Given the description of an element on the screen output the (x, y) to click on. 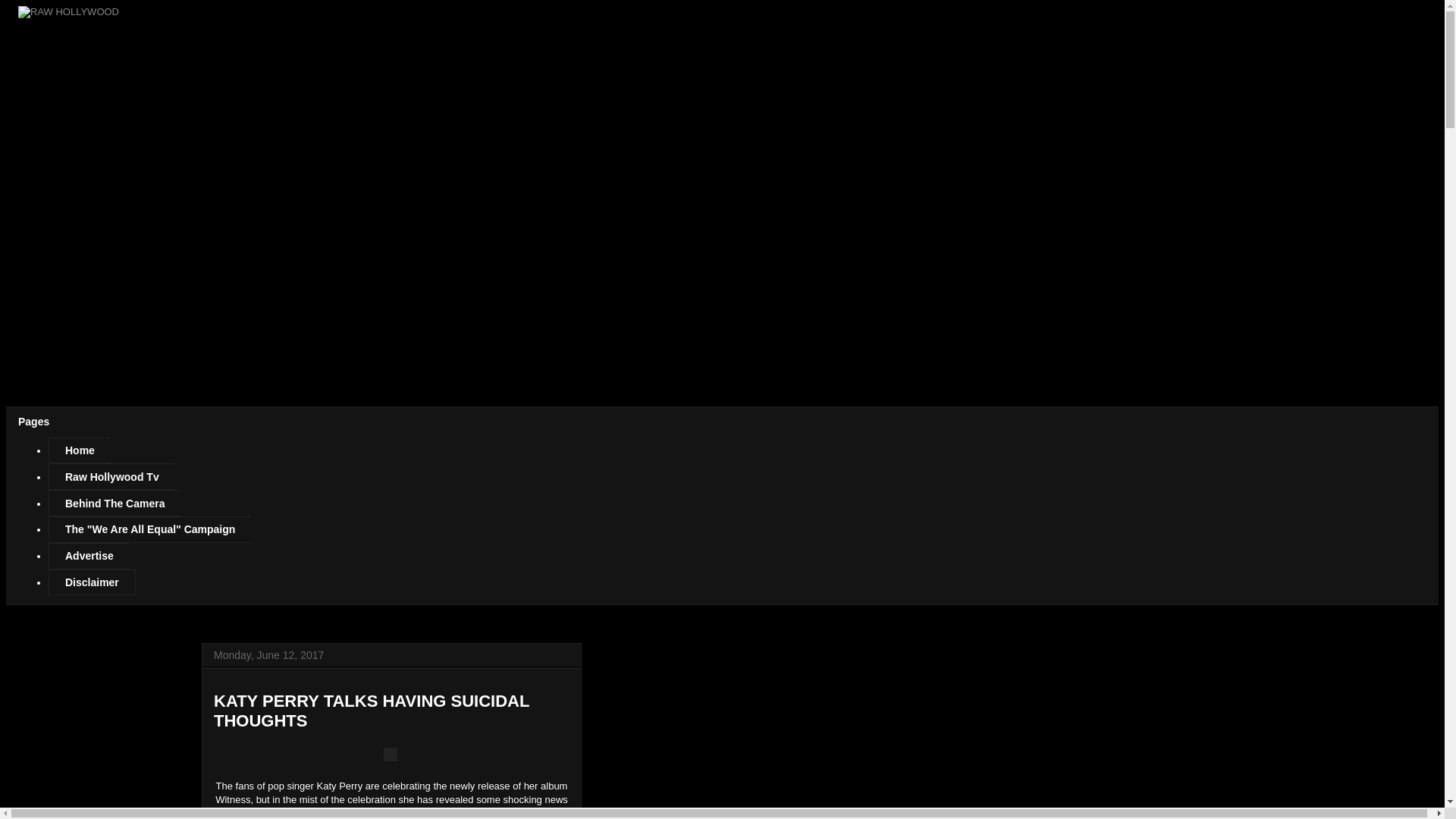
The "We Are All Equal" Campaign (149, 529)
Disclaimer (91, 582)
Behind The Camera (114, 502)
Home (79, 450)
Advertise (88, 555)
Raw Hollywood Tv (111, 476)
